Given the description of an element on the screen output the (x, y) to click on. 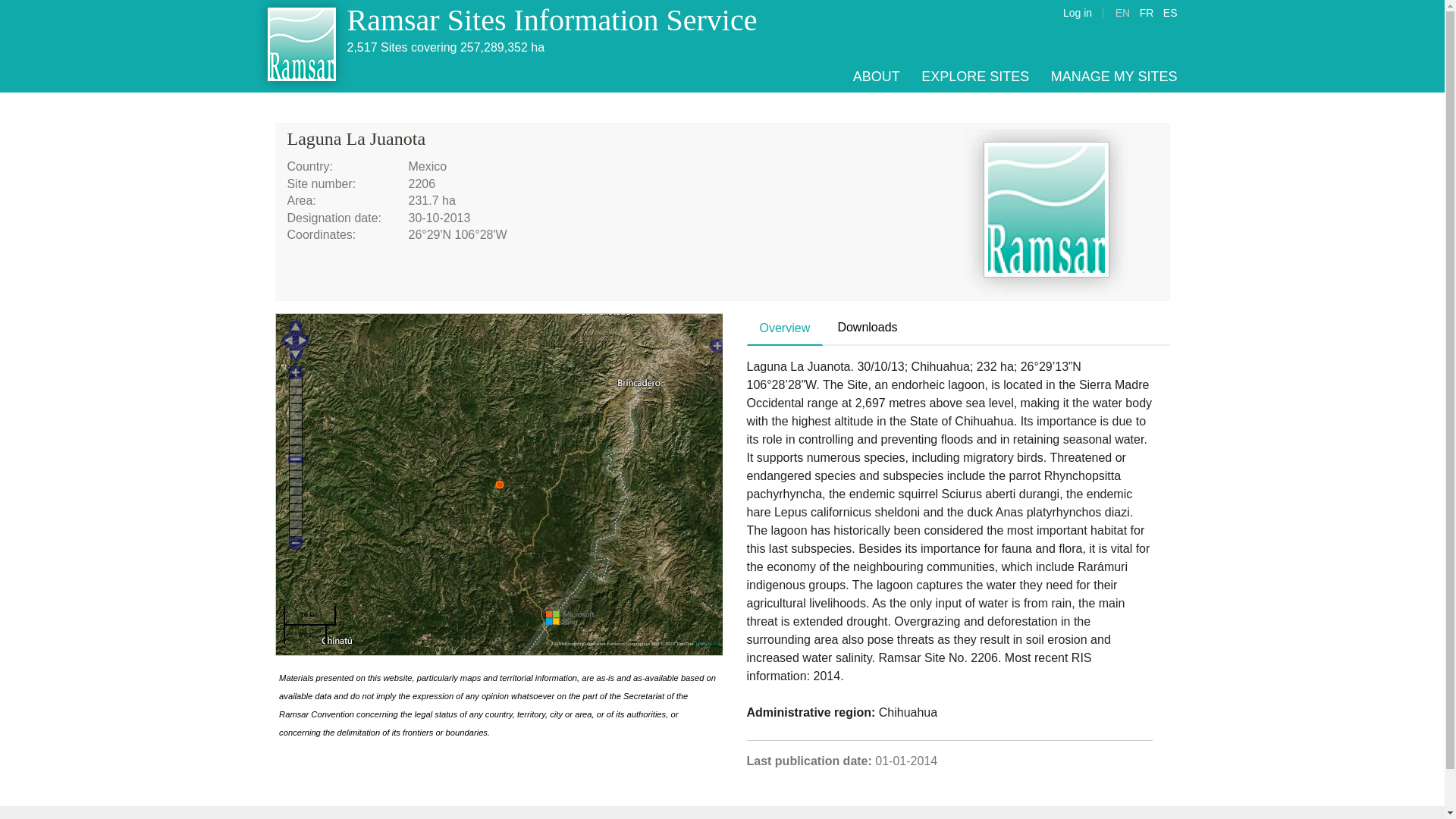
Ramsar logo (1045, 211)
Log in (1077, 12)
Downloads (866, 327)
Home (552, 19)
MANAGE MY SITES (1114, 76)
Terms of Use (707, 643)
EN (1122, 12)
ABOUT (876, 76)
Ramsar Sites Information Service (552, 19)
ES (1170, 12)
EXPLORE SITES (975, 76)
Overview (785, 328)
Home (301, 46)
FR (1147, 12)
